Given the description of an element on the screen output the (x, y) to click on. 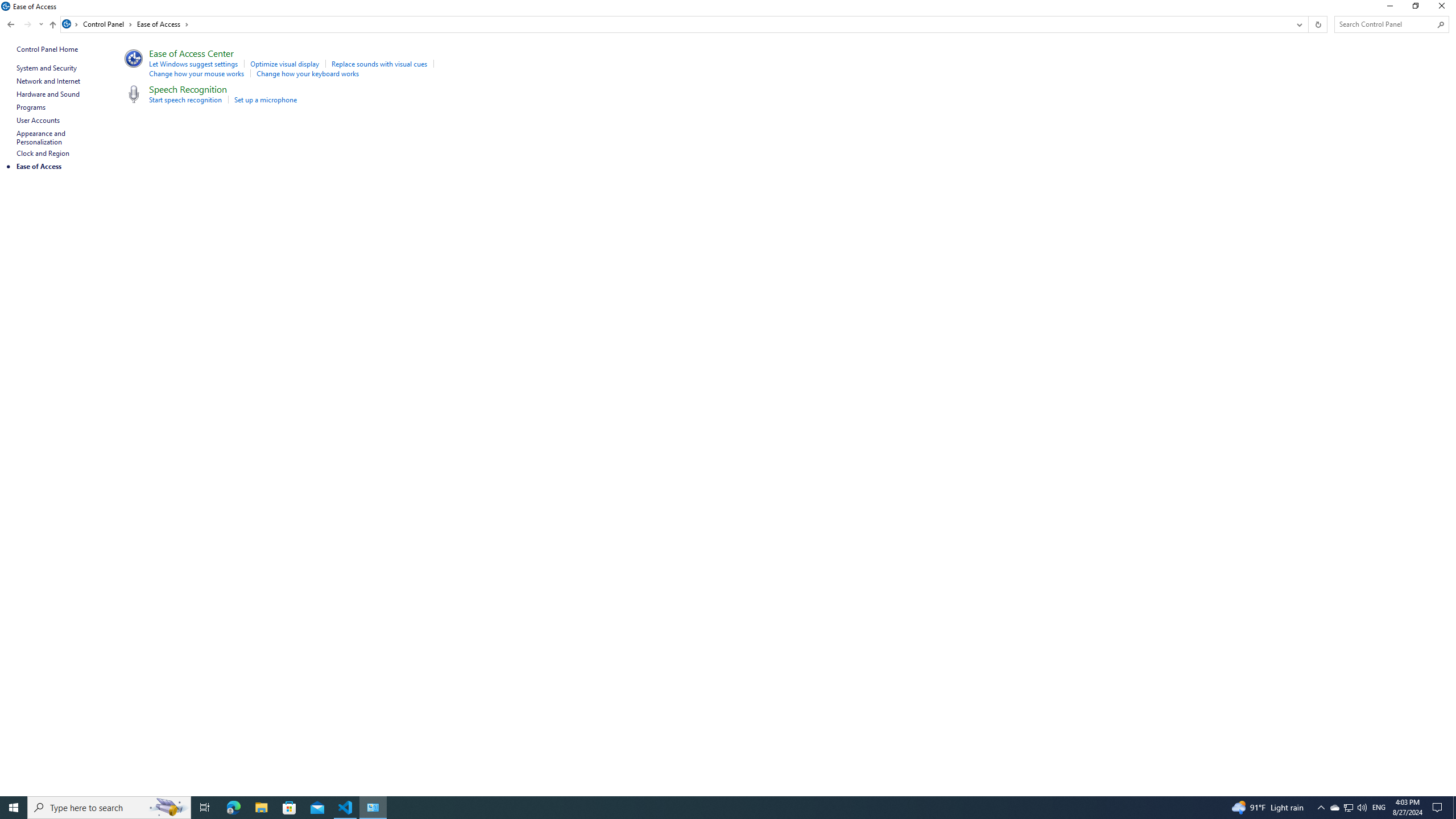
System (6, 6)
Ease of Access (162, 23)
User Accounts (38, 120)
Speech Recognition (188, 88)
Up to "Control Panel" (Alt + Up Arrow) (52, 24)
